Given the description of an element on the screen output the (x, y) to click on. 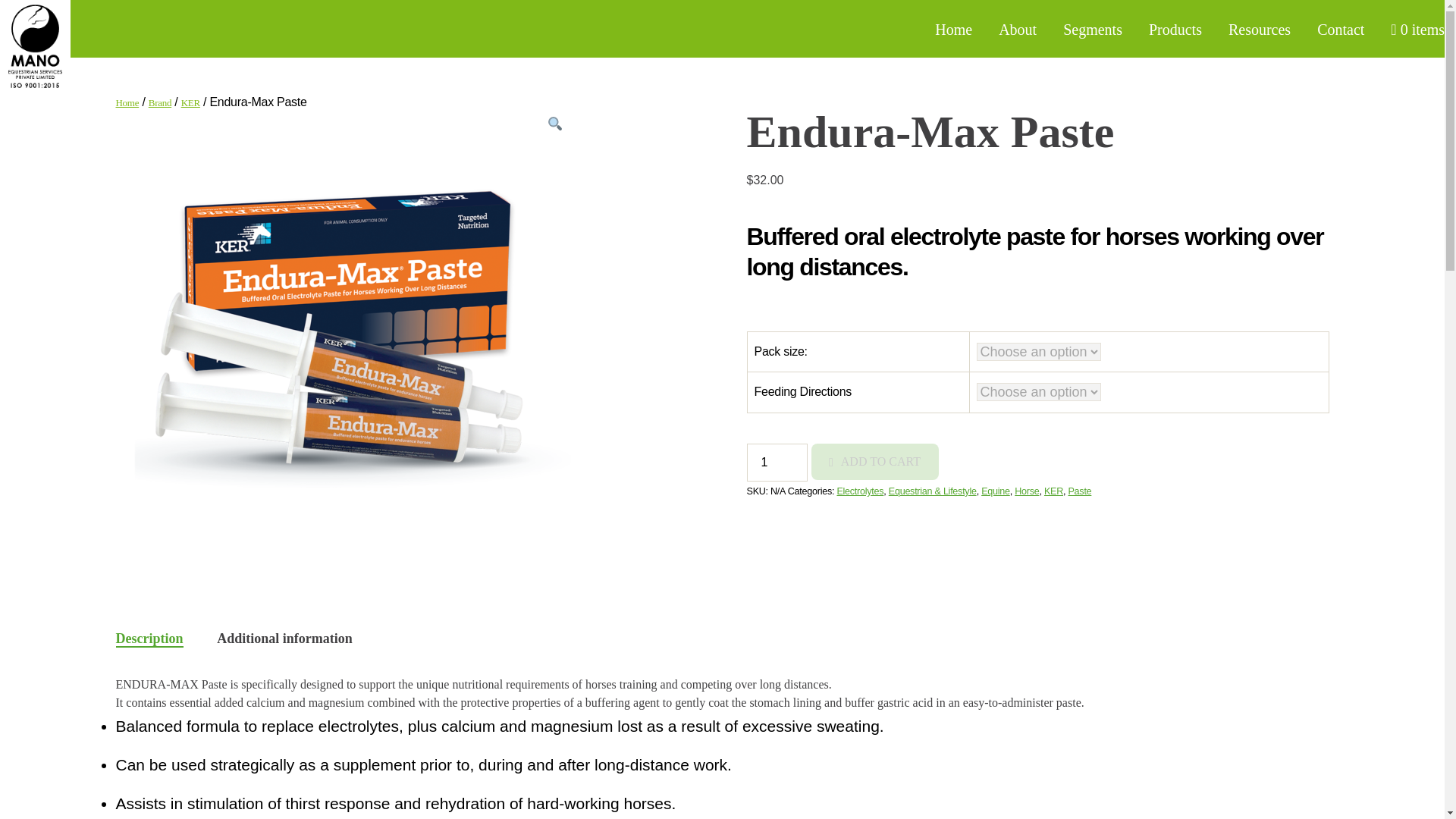
Contact (1340, 29)
Brand (159, 102)
KER (190, 102)
Electrolytes (859, 491)
ADD TO CART (874, 461)
About (1017, 29)
Segments (1092, 29)
Products (1175, 29)
Description (149, 638)
Horse (1026, 491)
KER (1052, 491)
1 (775, 462)
Additional information (284, 638)
Qty (775, 462)
Home (953, 29)
